Given the description of an element on the screen output the (x, y) to click on. 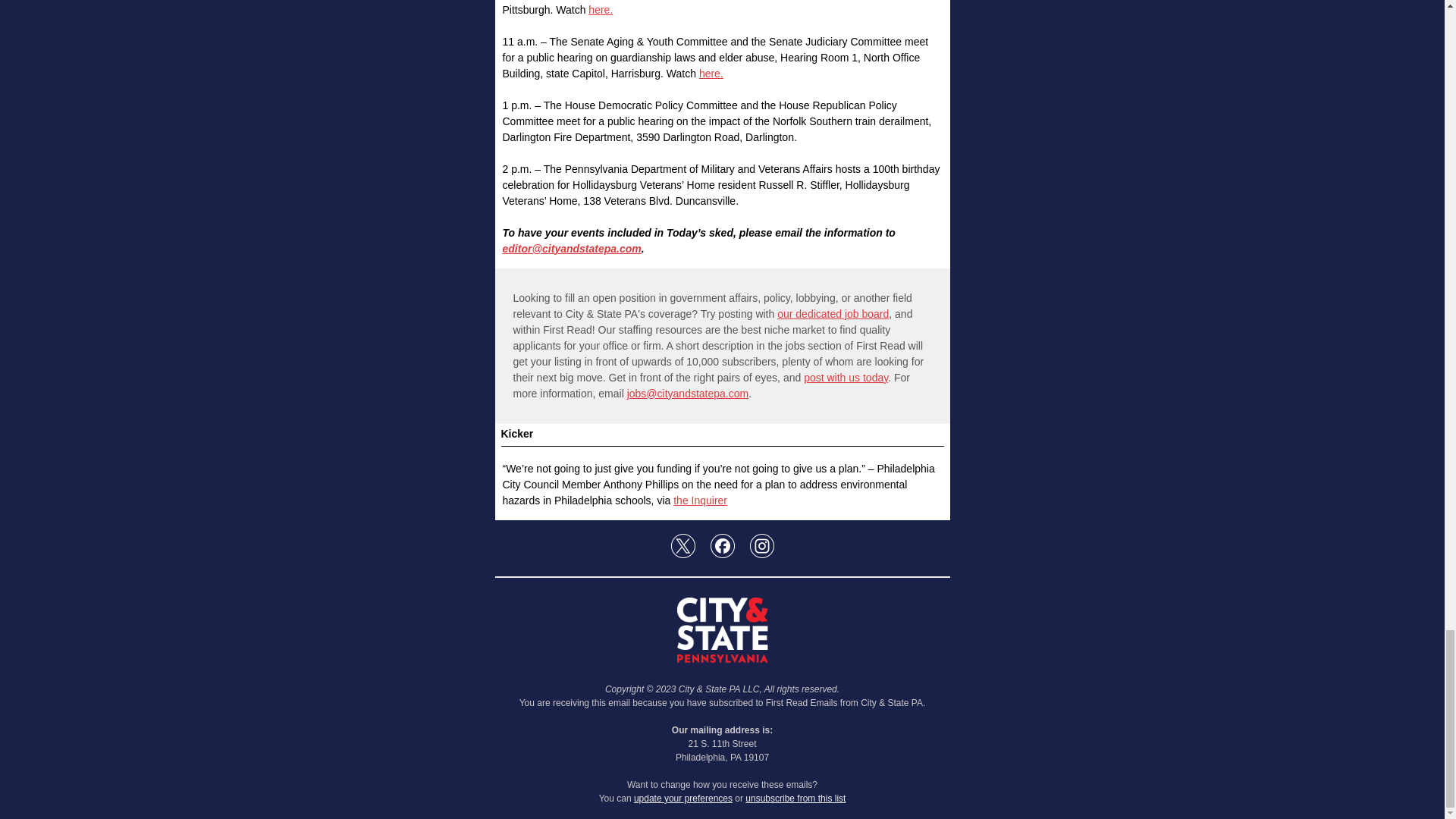
our dedicated job board (832, 313)
here. (600, 9)
Twitter (681, 545)
Instagram (761, 545)
Facebook (721, 545)
post with us today (845, 377)
here. (710, 73)
